Given the description of an element on the screen output the (x, y) to click on. 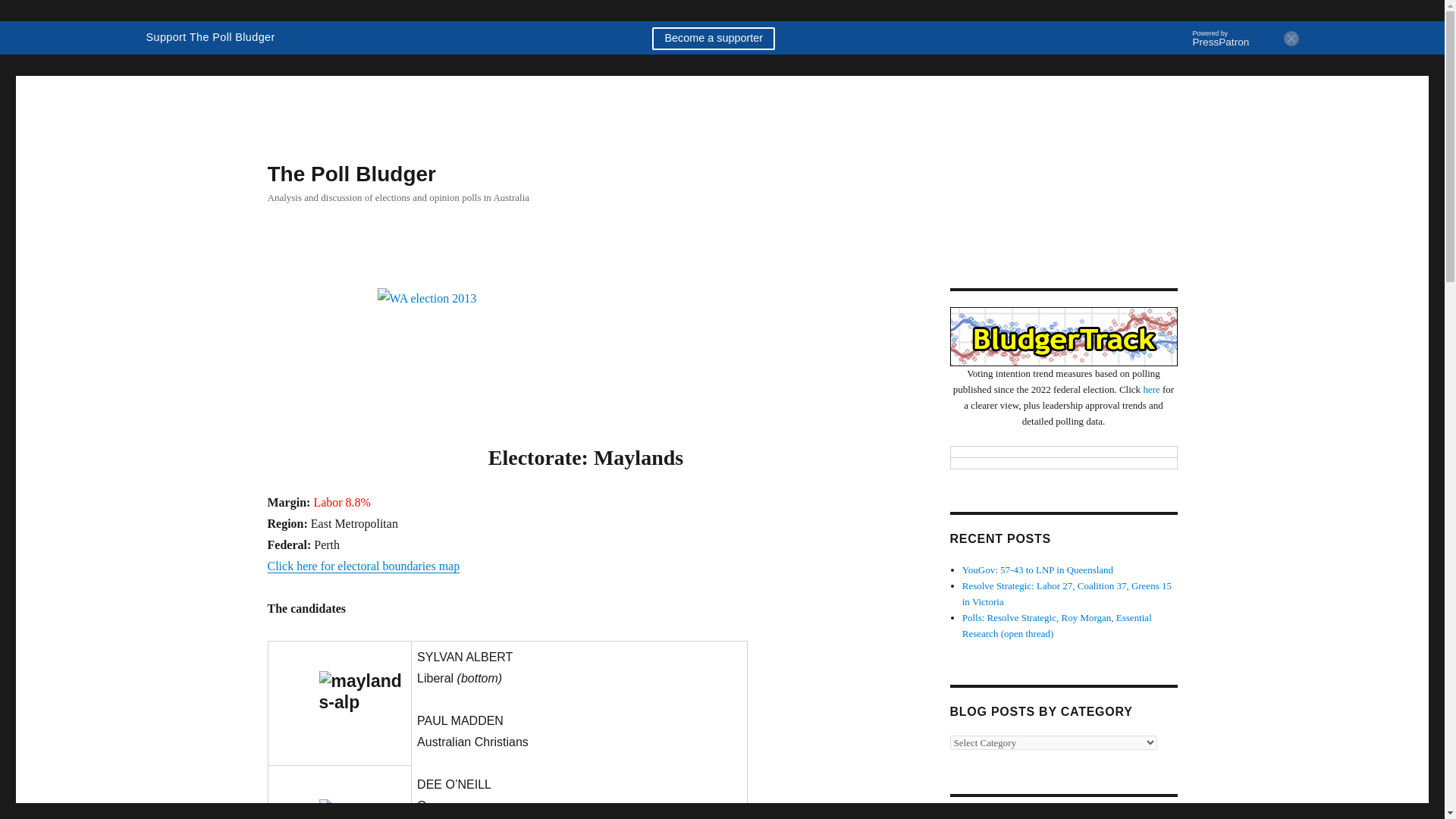
Click here for electoral boundaries map (363, 565)
The Poll Bludger (350, 173)
here (1150, 389)
YouGov: 57-43 to LNP in Queensland (1037, 569)
